Given the description of an element on the screen output the (x, y) to click on. 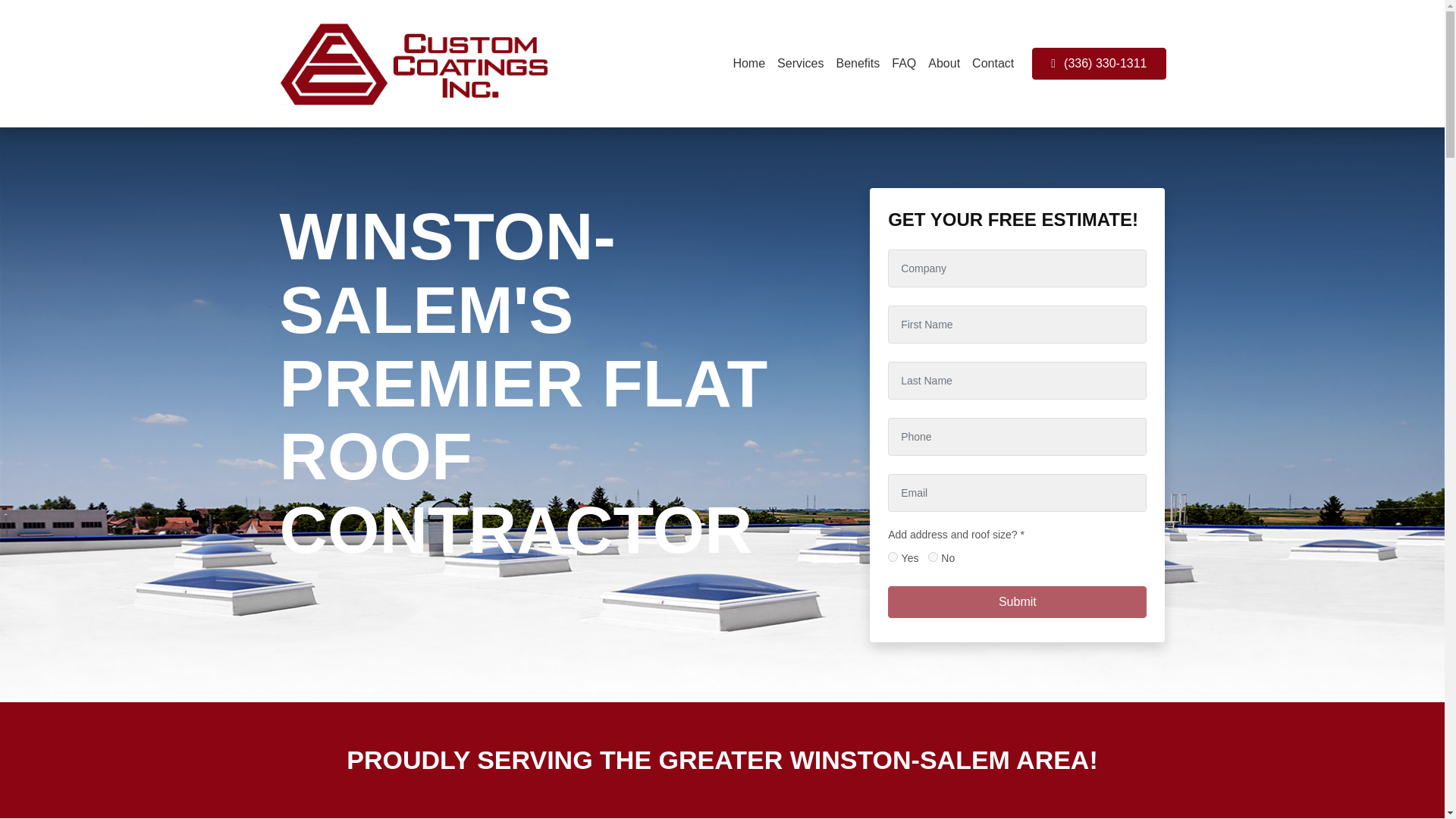
Submit (1017, 602)
Benefits (857, 63)
About (943, 63)
Home (748, 63)
Services (800, 63)
No (932, 556)
Yes (893, 556)
Contact (993, 63)
FAQ (903, 63)
